Given the description of an element on the screen output the (x, y) to click on. 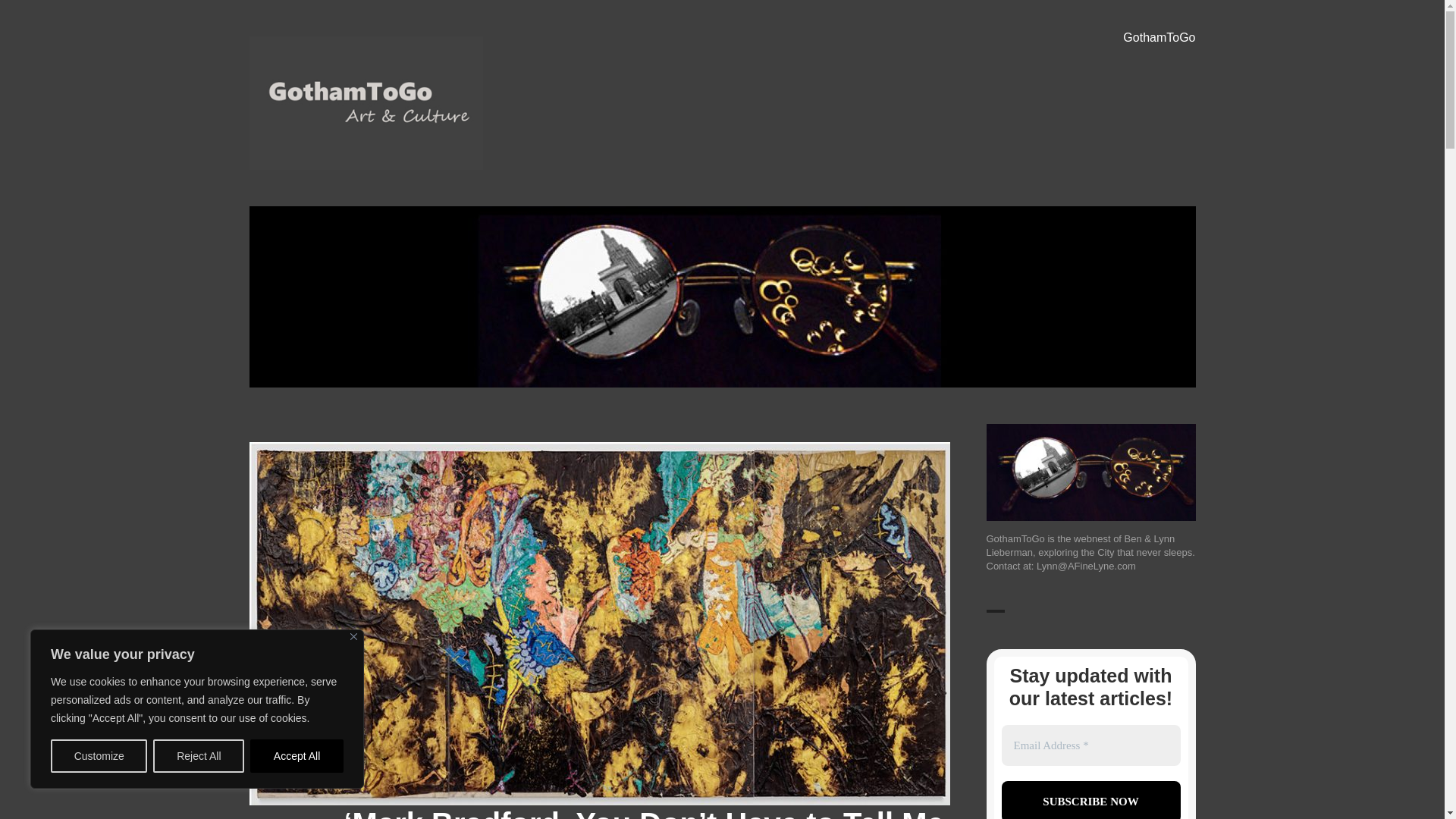
SUBSCRIBE NOW (1090, 800)
Accept All (296, 756)
Customize (98, 756)
SUBSCRIBE NOW (1090, 800)
Reject All (198, 756)
Email Address (1090, 745)
GothamToGo (319, 191)
GothamToGo (1158, 37)
